Given the description of an element on the screen output the (x, y) to click on. 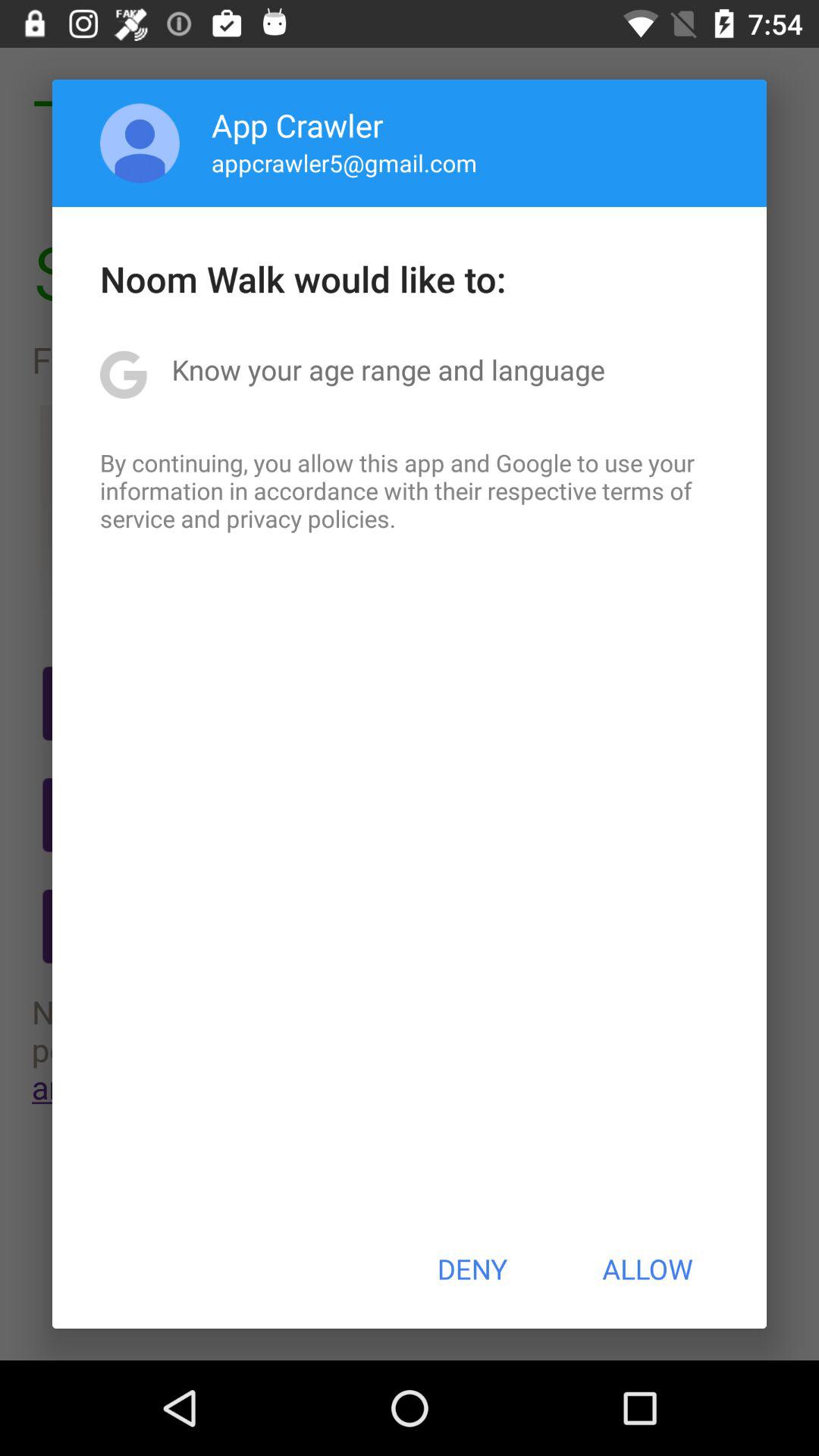
choose the icon above the noom walk would item (139, 143)
